Given the description of an element on the screen output the (x, y) to click on. 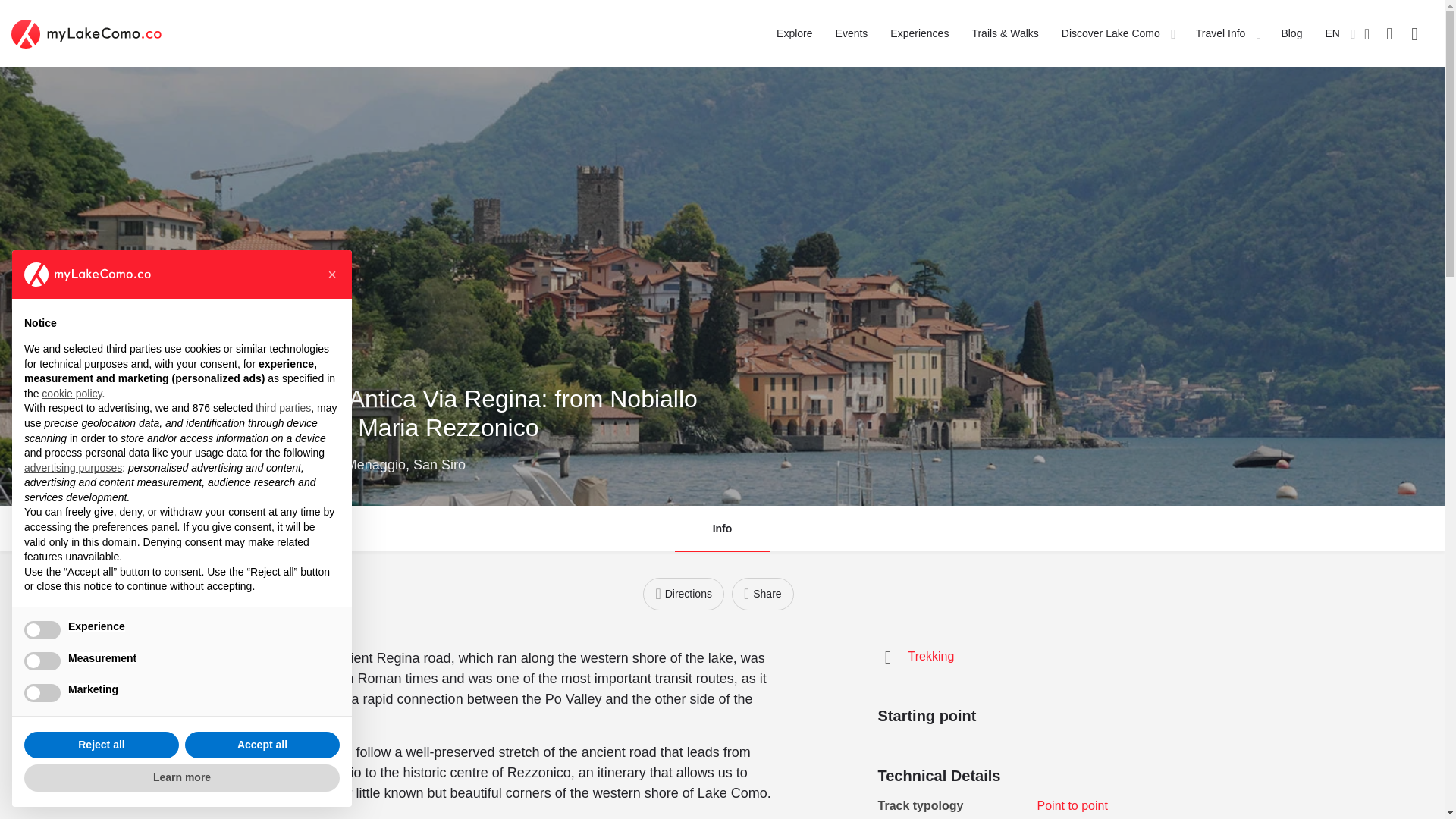
Discover Lake Como (1110, 33)
EN (1331, 33)
false (42, 629)
Menaggio (376, 464)
false (42, 660)
Experiences (919, 33)
Directions (683, 594)
Events (851, 33)
Travel Info (1220, 33)
San Siro (439, 464)
Info (722, 529)
Blog (1291, 33)
Share (762, 594)
false (42, 692)
View your shopping cart (1388, 33)
